Given the description of an element on the screen output the (x, y) to click on. 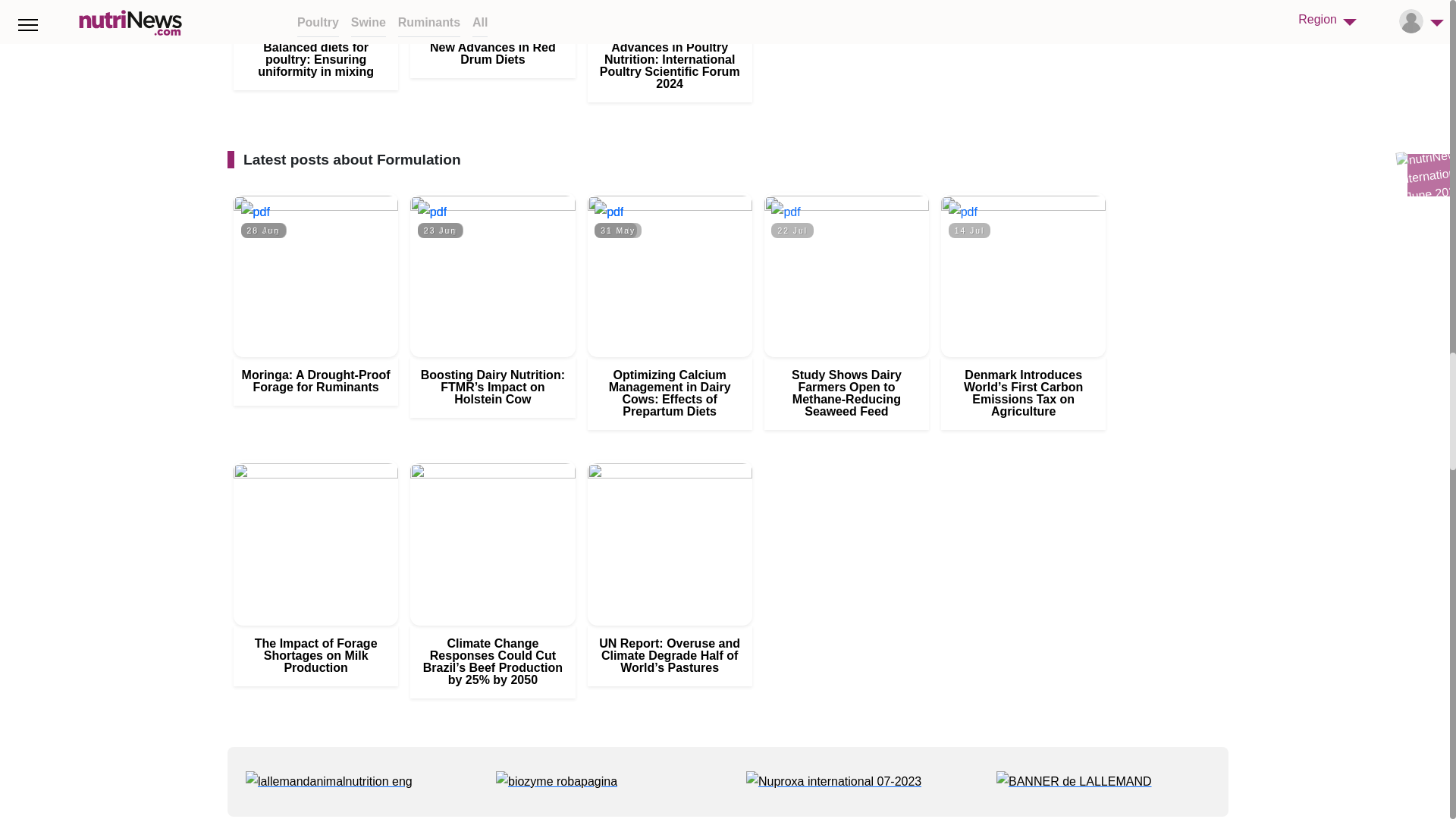
DESCARGAR PDF (255, 211)
DESCARGAR PDF (962, 211)
DESCARGAR PDF (431, 211)
DESCARGAR PDF (785, 211)
DESCARGAR PDF (608, 211)
